Given the description of an element on the screen output the (x, y) to click on. 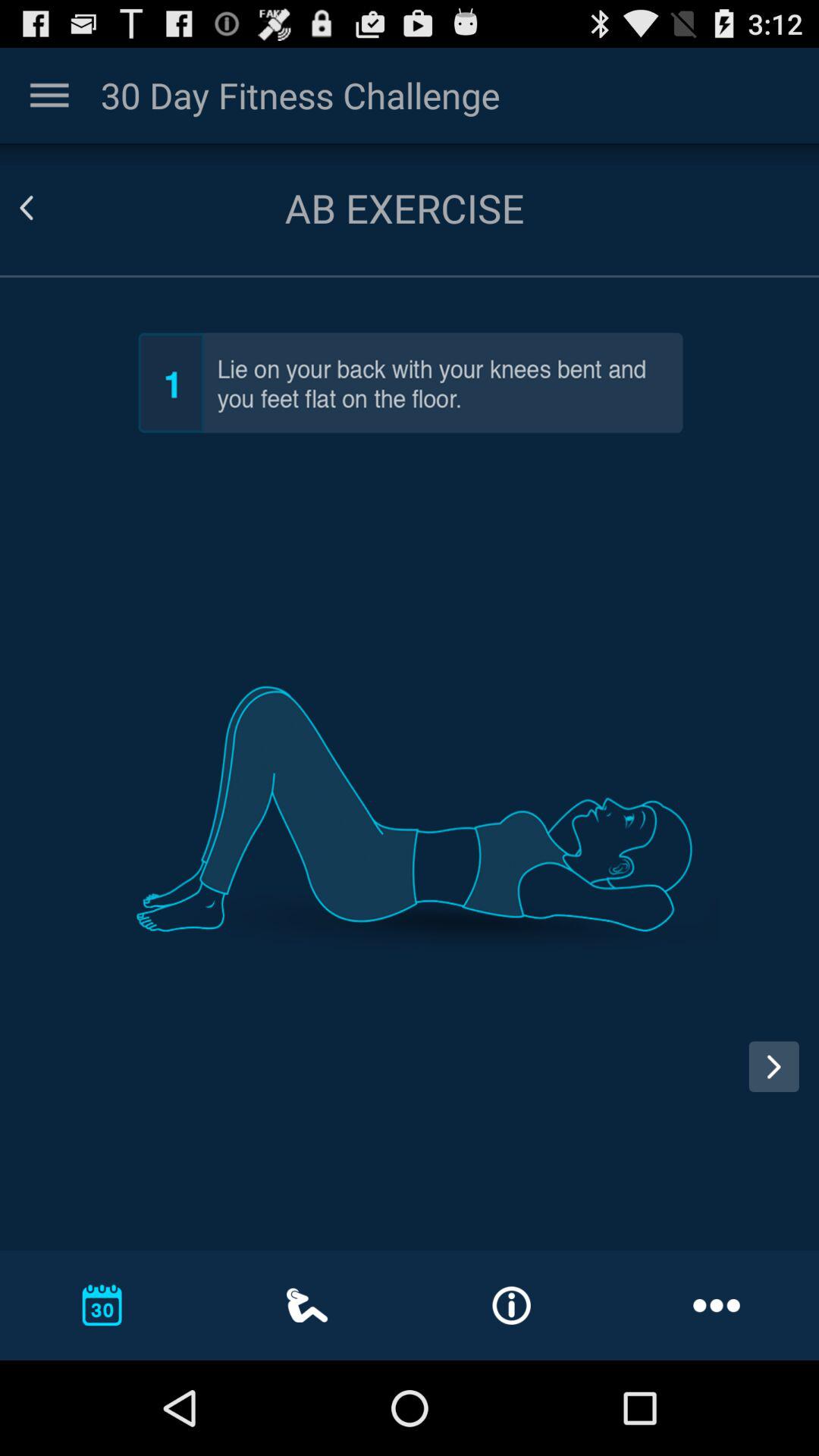
advance to next page (779, 1081)
